Given the description of an element on the screen output the (x, y) to click on. 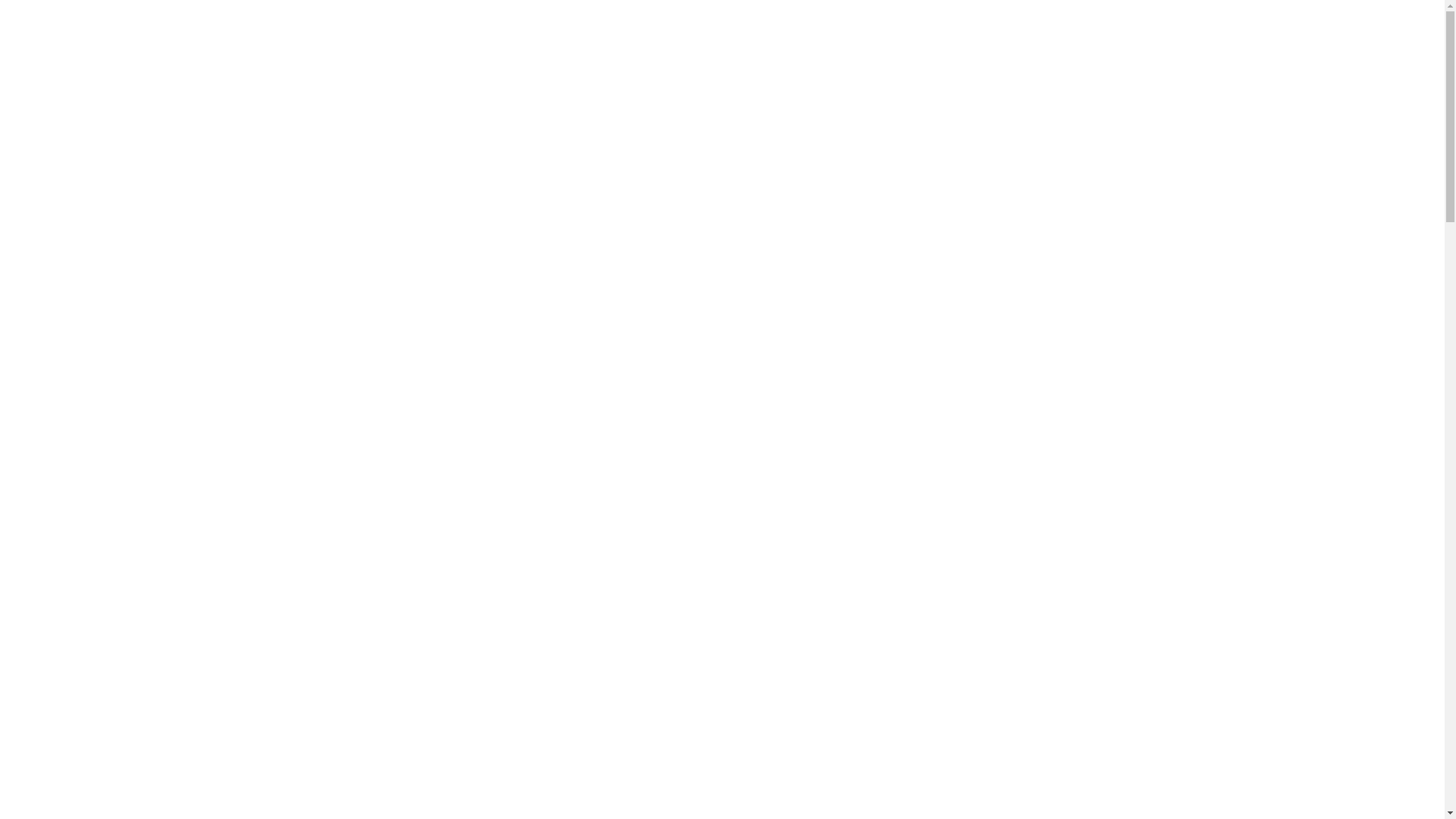
Dentists Element type: text (1036, 239)
Contact Element type: text (914, 56)
Program accreditation Element type: text (558, 146)
ADC International Element type: text (1001, 56)
News Element type: text (858, 56)
Practitioner assessments Element type: text (948, 239)
Help centre Element type: text (694, 146)
Practitioner assessments Element type: text (375, 146)
About Element type: text (798, 56)
ADC Connect Element type: text (1109, 56)
